Given the description of an element on the screen output the (x, y) to click on. 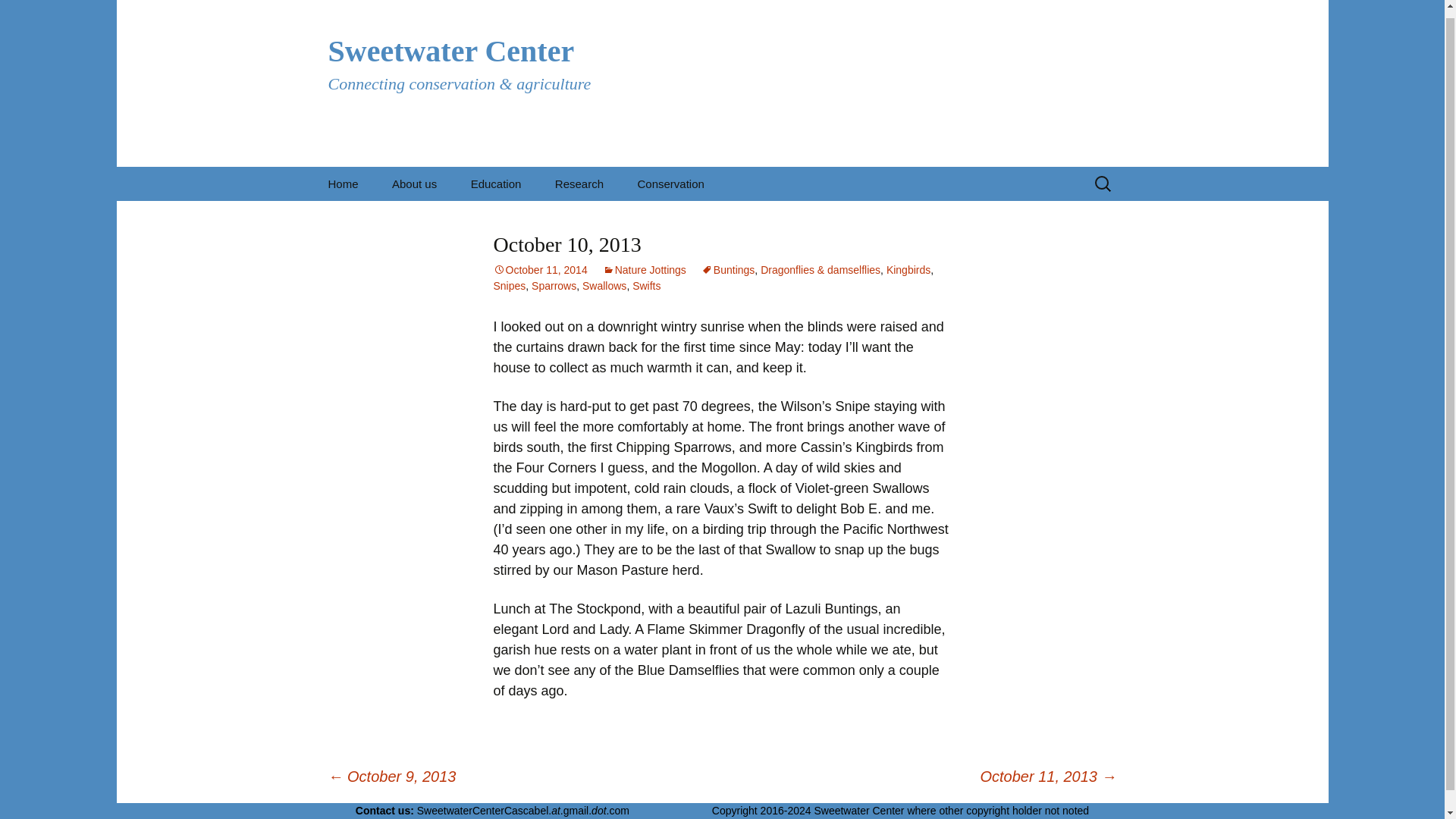
Home (342, 183)
Buntings (727, 269)
Conservation (670, 183)
Nature Jottings by Woody (531, 223)
Swifts (646, 285)
Swallows (604, 285)
Our goals (452, 217)
Nature Jottings (643, 269)
Restoring Wildlife Habitat (697, 223)
